Given the description of an element on the screen output the (x, y) to click on. 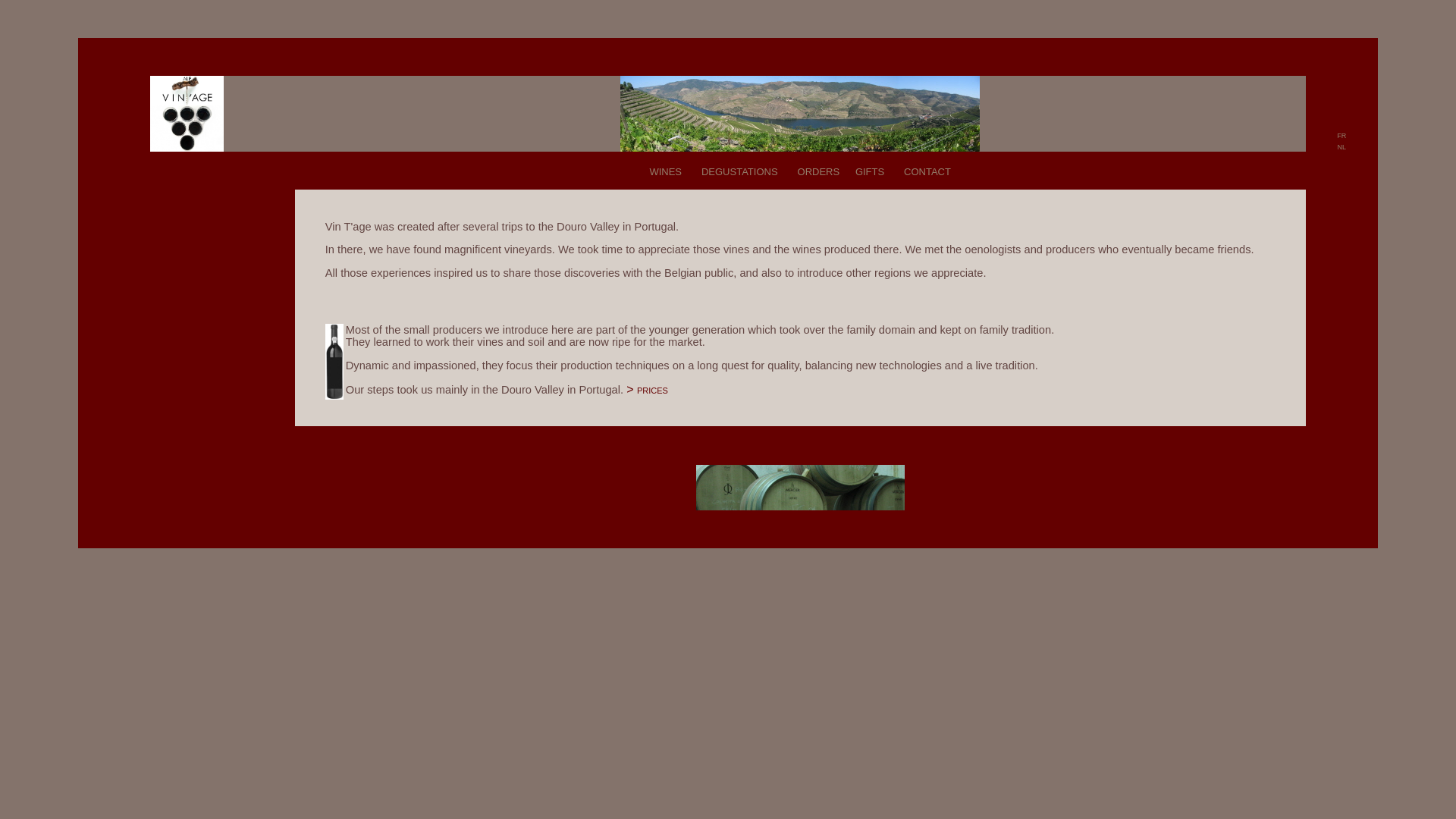
> prices Element type: text (647, 388)
degustations Element type: text (739, 170)
gifts Element type: text (869, 170)
wines Element type: text (665, 170)
nl Element type: text (1341, 145)
contact Element type: text (926, 170)
orders Element type: text (818, 170)
fr Element type: text (1341, 134)
